Given the description of an element on the screen output the (x, y) to click on. 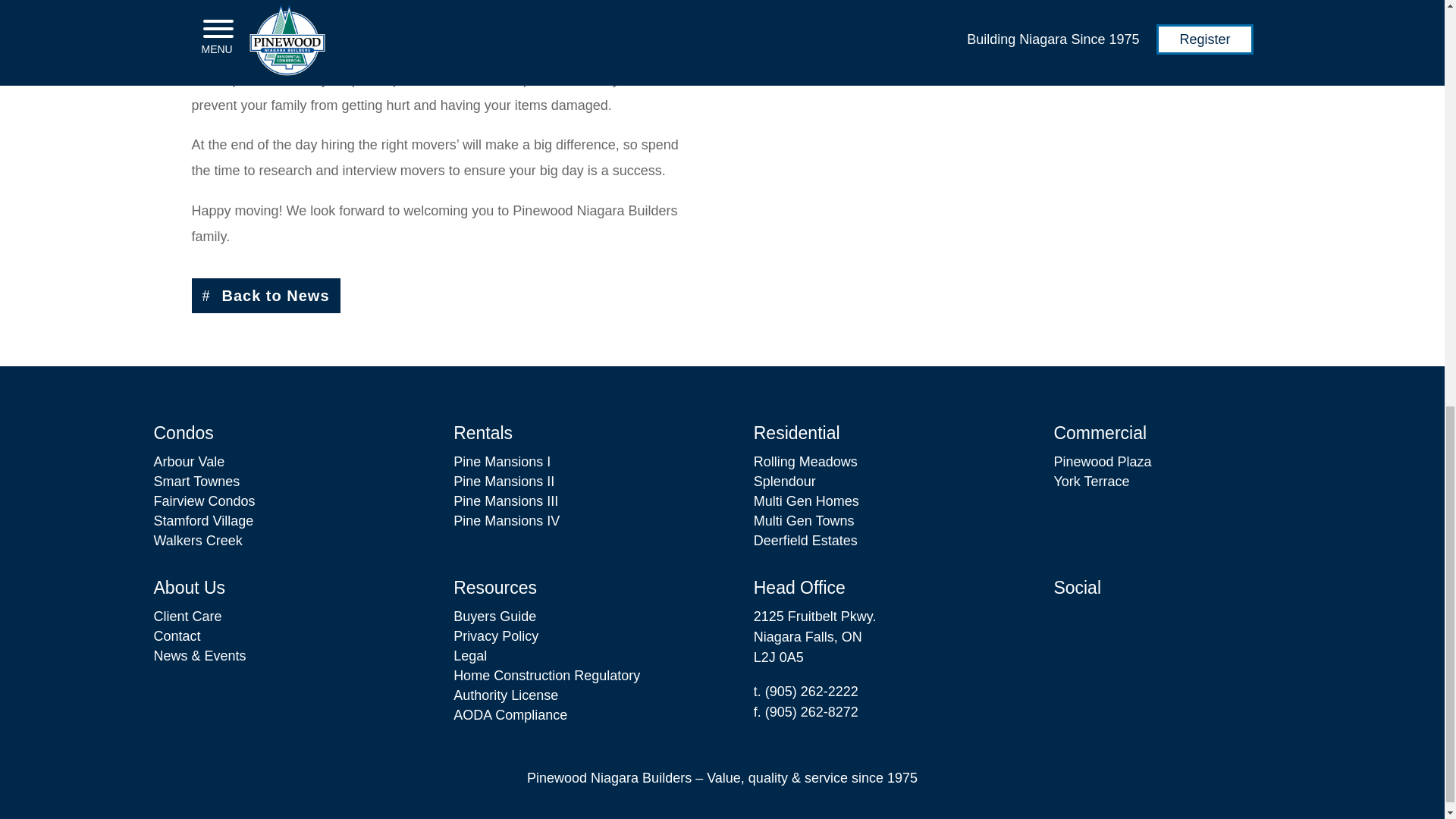
Smart Townes (196, 481)
Multi Gen Towns (804, 520)
Rolling Meadows (805, 461)
Arbour Vale (188, 461)
Back to News (264, 295)
Pine Mansions I (501, 461)
Splendour (784, 481)
Multi Gen Homes (806, 500)
Pine Mansions IV (505, 520)
Deerfield Estates (805, 540)
